Given the description of an element on the screen output the (x, y) to click on. 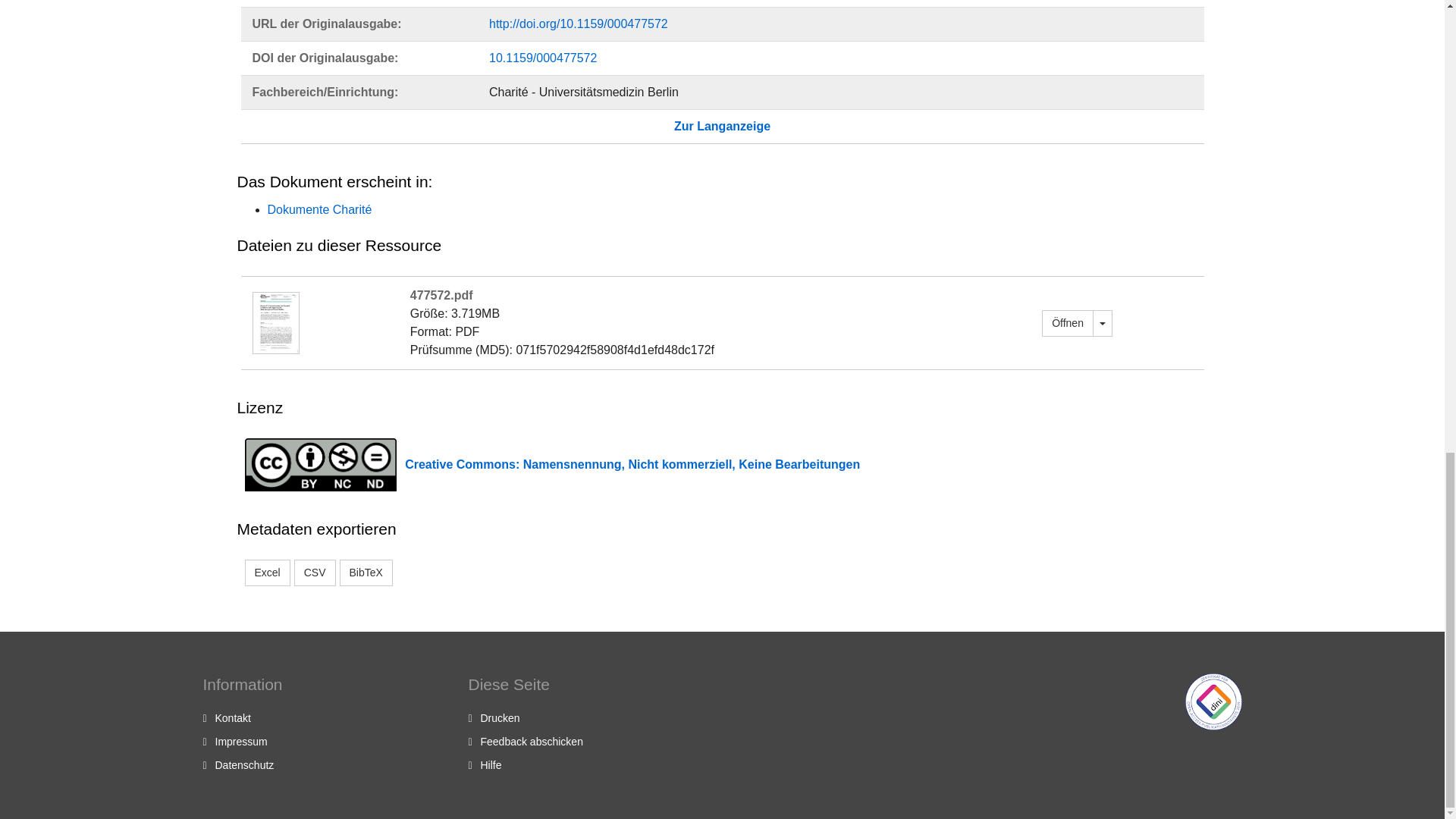
477572.pdf (1067, 322)
477572.pdf (274, 321)
